Given the description of an element on the screen output the (x, y) to click on. 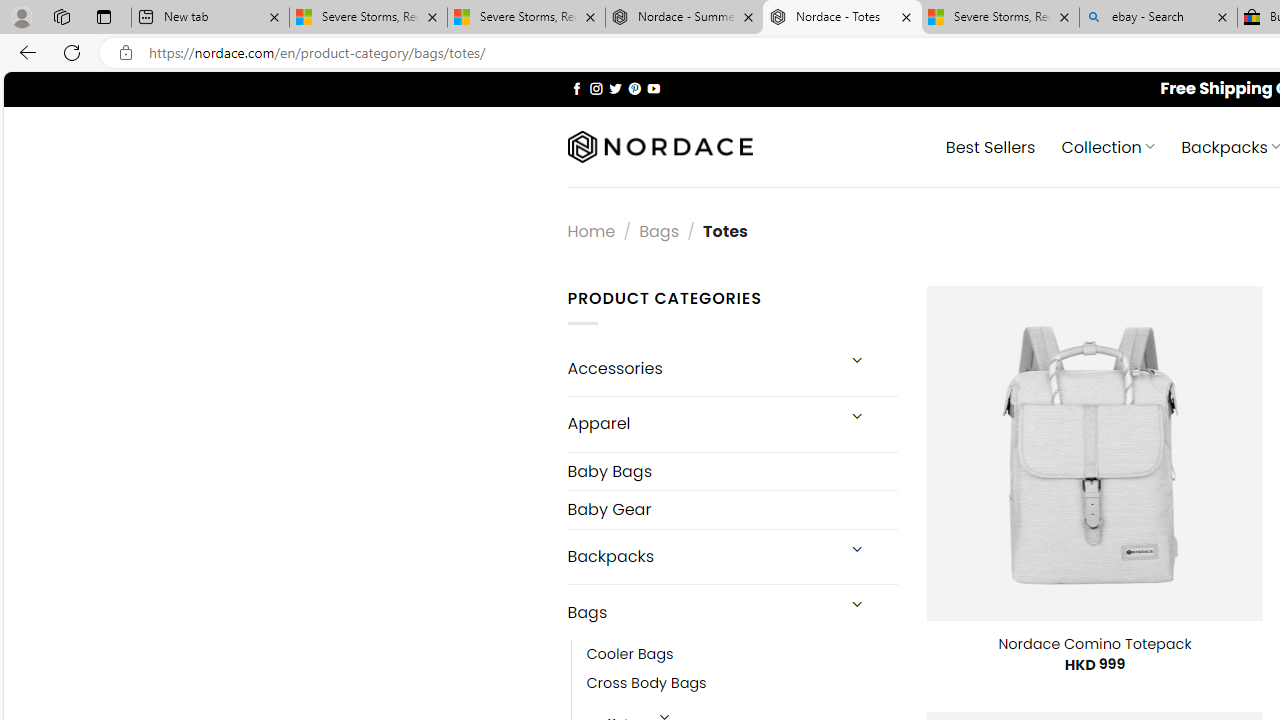
Nordace - Totes (842, 17)
Baby Gear (732, 510)
Follow on Instagram (596, 88)
Apparel (700, 423)
Cross Body Bags (646, 683)
ebay - Search (1158, 17)
Backpacks (700, 556)
